Given the description of an element on the screen output the (x, y) to click on. 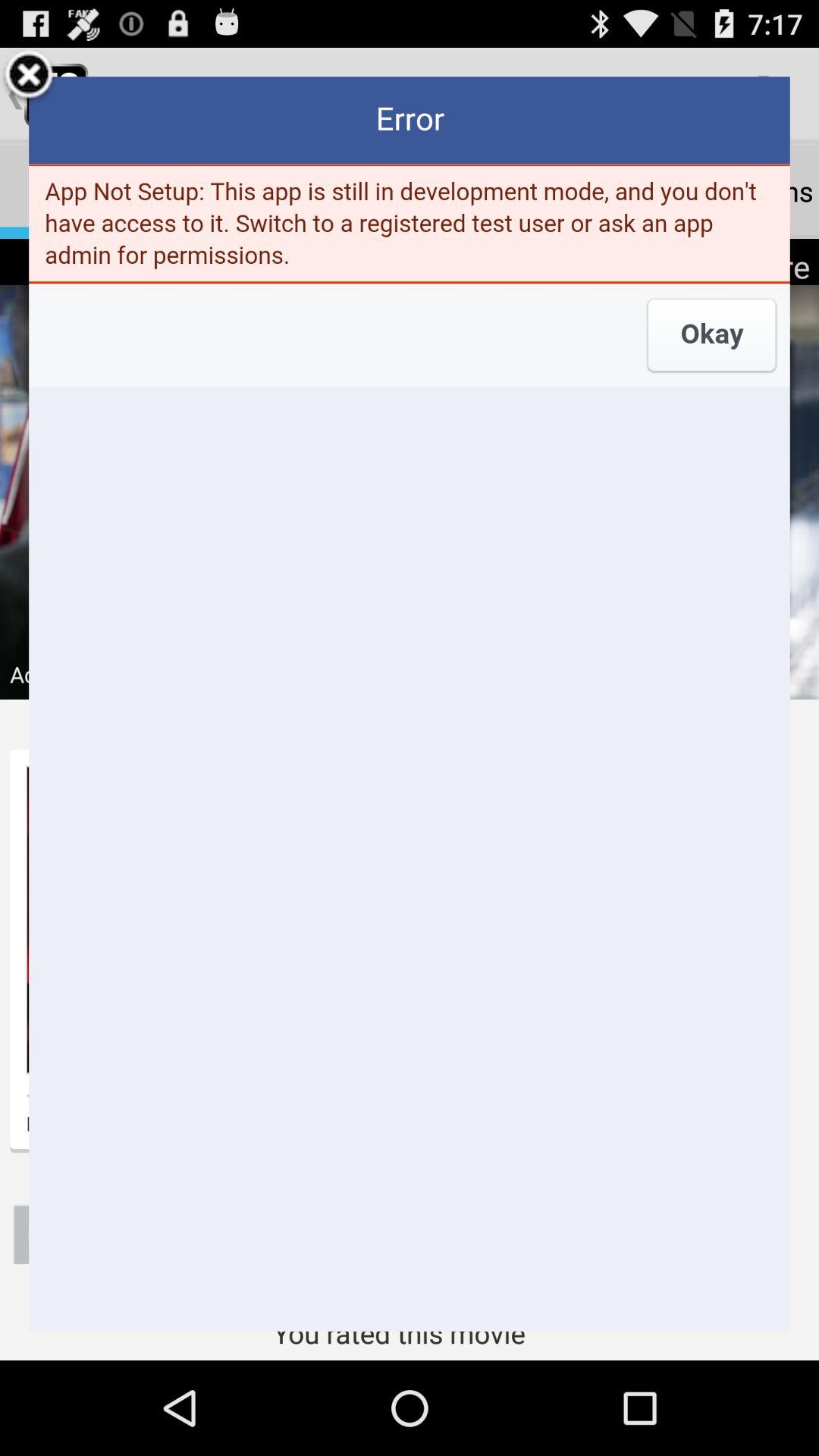
close the tab (29, 76)
